Given the description of an element on the screen output the (x, y) to click on. 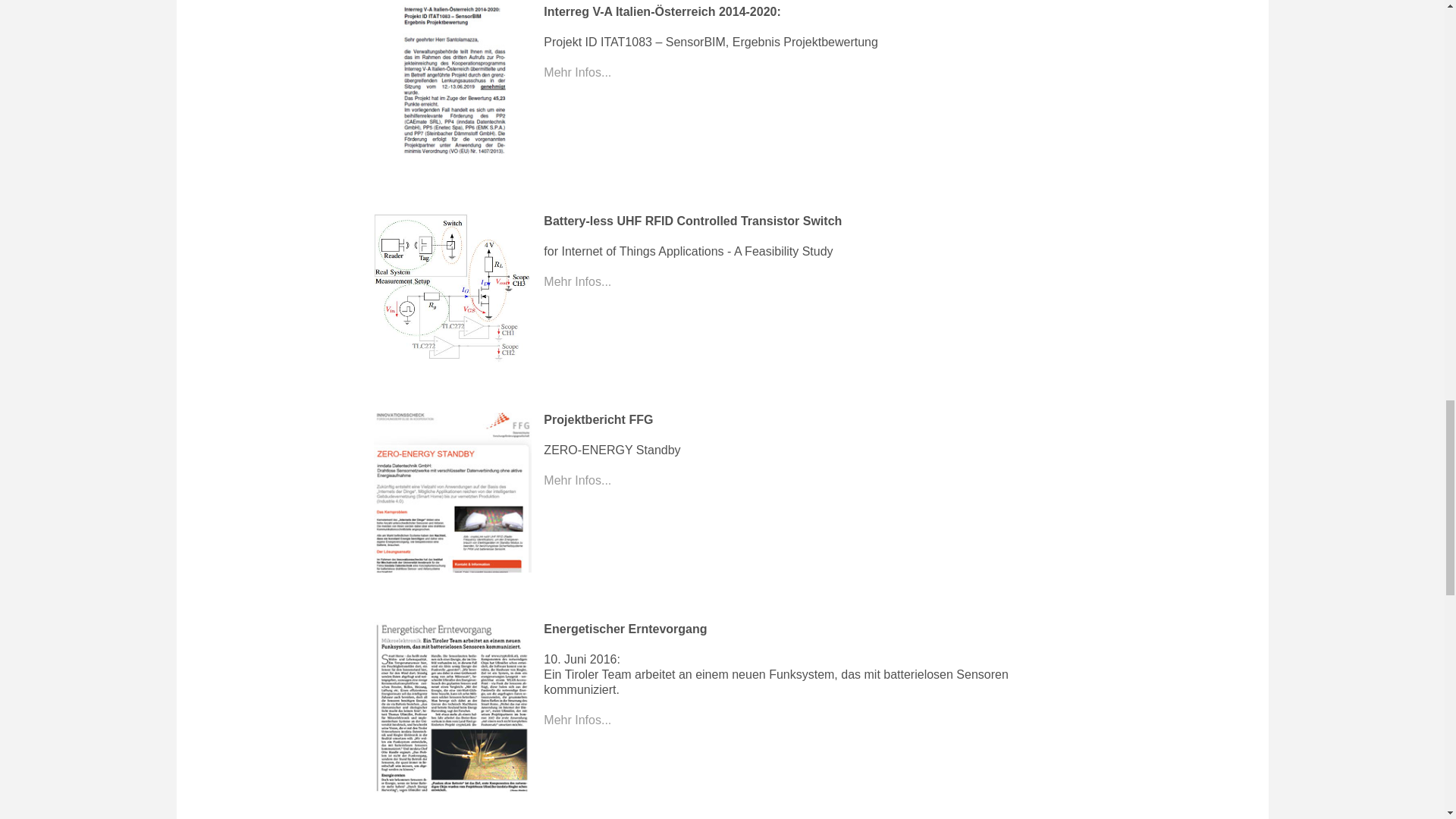
Mehr Infos... (577, 281)
Mehr Infos... (577, 72)
